Given the description of an element on the screen output the (x, y) to click on. 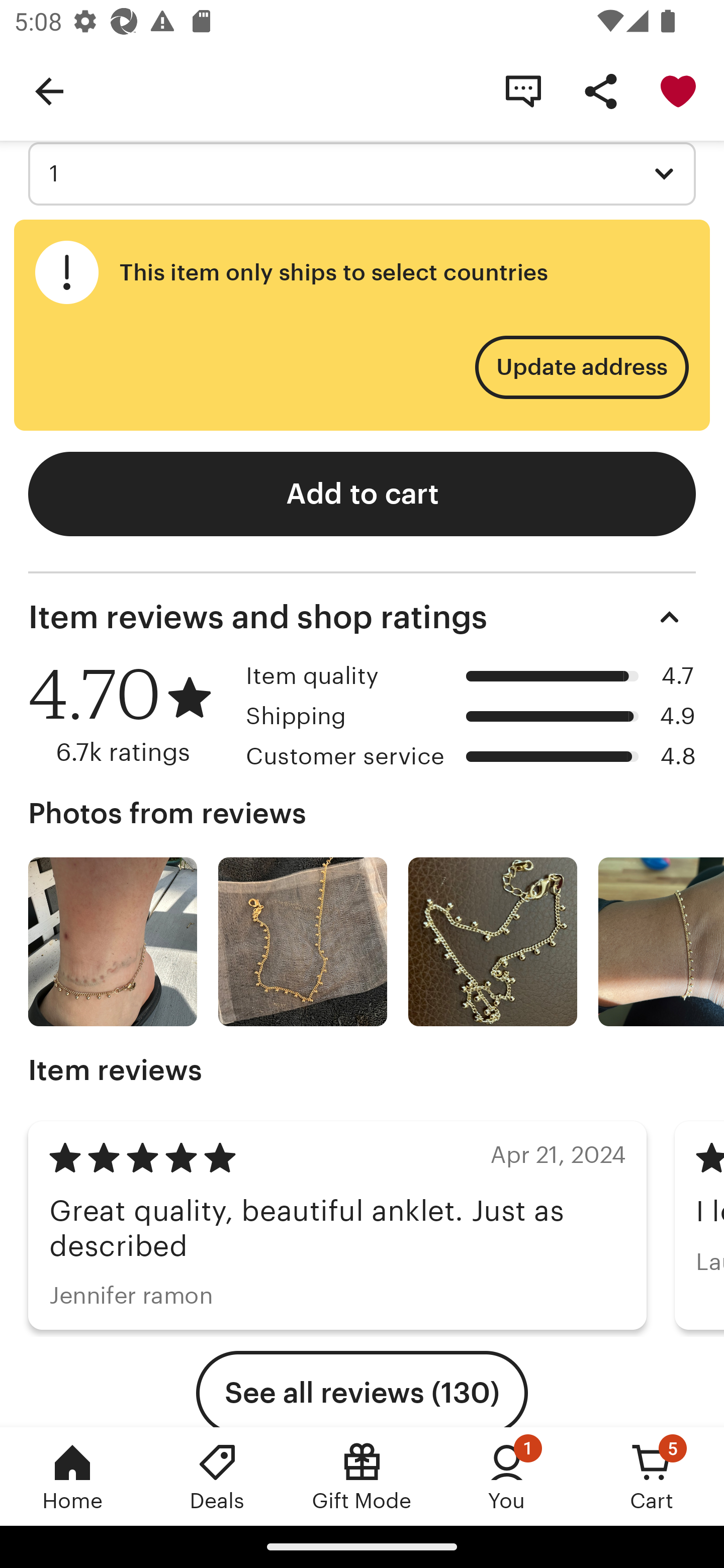
Navigate up (49, 90)
Contact shop (523, 90)
Share (600, 90)
1 (361, 173)
Update address (581, 366)
Add to cart (361, 493)
Item reviews and shop ratings (362, 616)
4.70 6.7k ratings (129, 714)
Photo from review (112, 941)
Photo from review (302, 941)
Photo from review (492, 941)
Photo from review (661, 941)
See all reviews (130) (361, 1388)
Deals (216, 1475)
Gift Mode (361, 1475)
You, 1 new notification You (506, 1475)
Cart, 5 new notifications Cart (651, 1475)
